Given the description of an element on the screen output the (x, y) to click on. 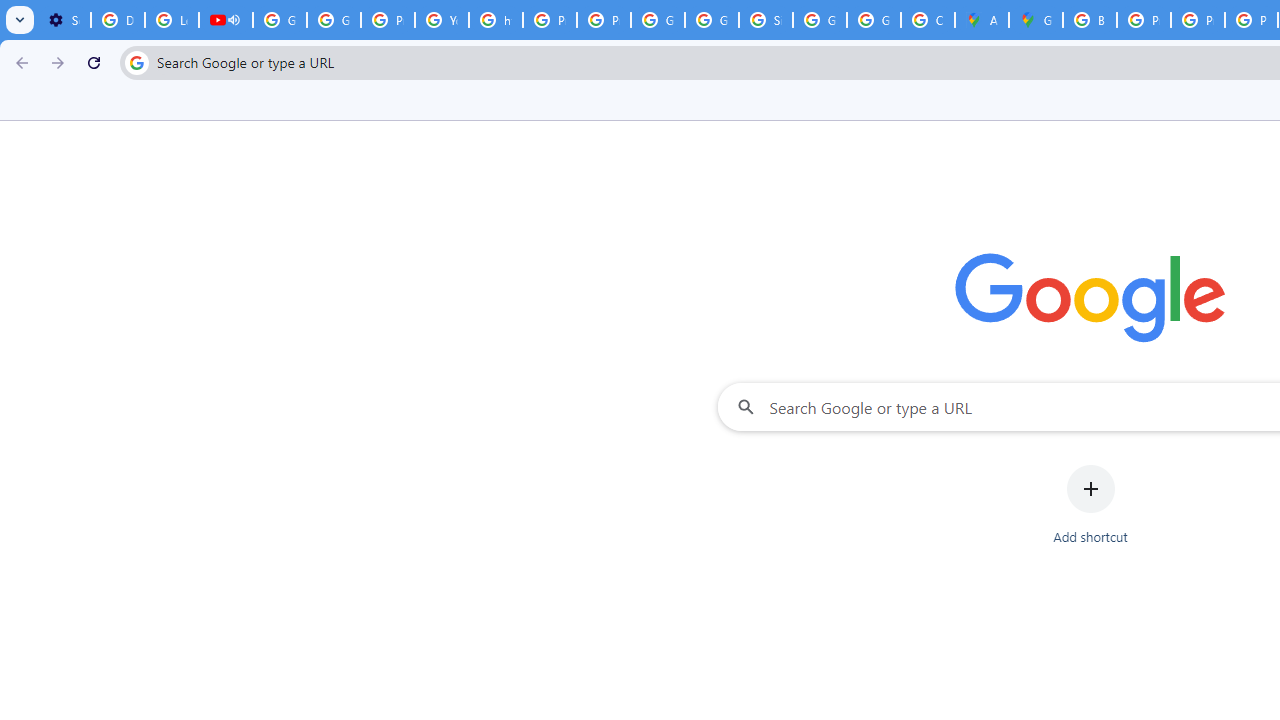
Settings - Customize profile (63, 20)
Learn how to find your photos - Google Photos Help (171, 20)
Privacy Help Center - Policies Help (387, 20)
YouTube (441, 20)
Google Maps (1035, 20)
Privacy Help Center - Policies Help (1197, 20)
